Given the description of an element on the screen output the (x, y) to click on. 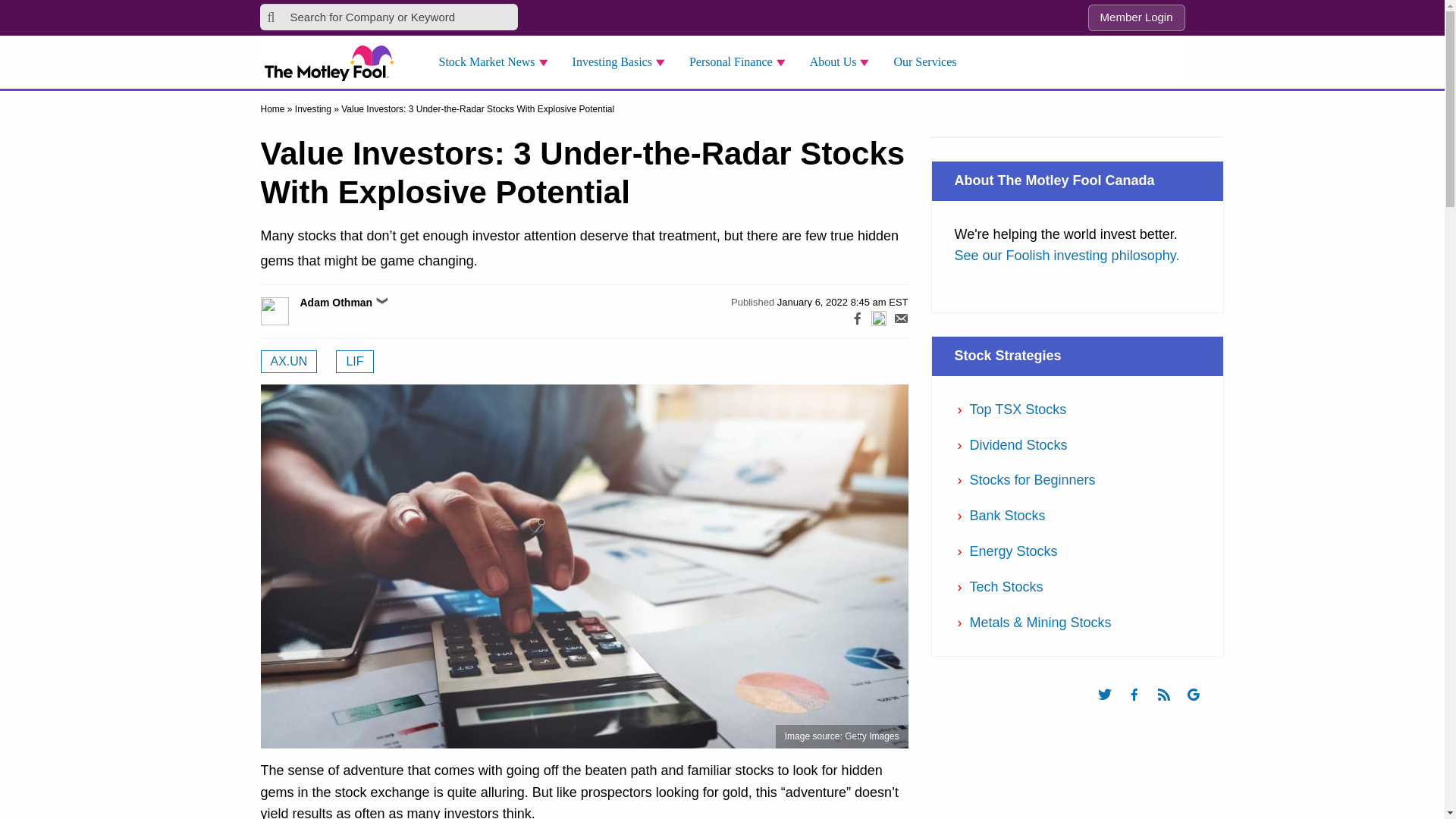
Stock Market News (497, 62)
See more articles about AX.UN (288, 361)
Like us on Facebook (1141, 707)
See more articles about LIF (354, 361)
Follow us on Twitter (1111, 707)
Member Login (1136, 17)
Investing Basics (623, 62)
Subscribe to our feed (1171, 707)
